Given the description of an element on the screen output the (x, y) to click on. 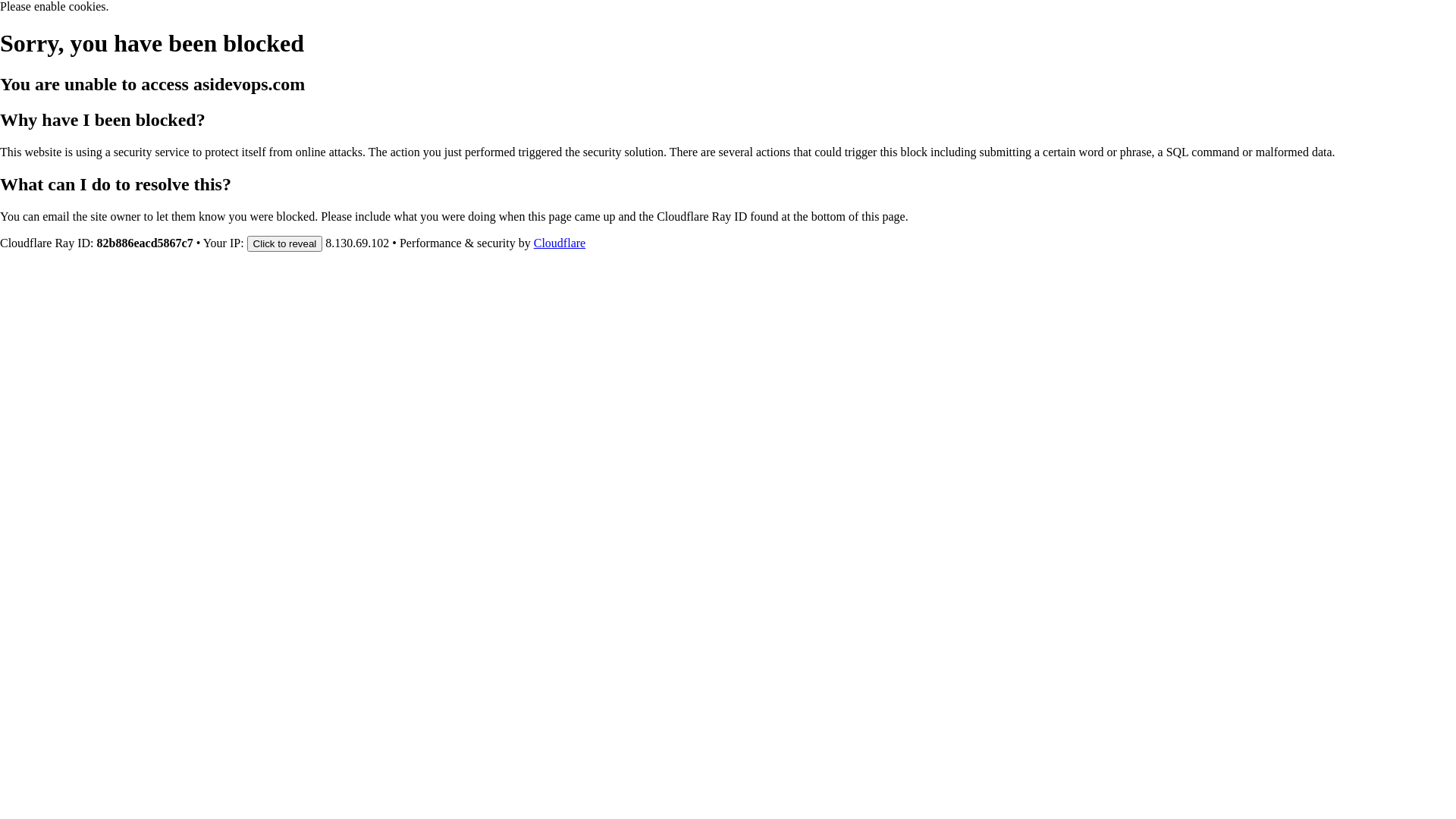
Cloudflare Element type: text (559, 242)
Click to reveal Element type: text (285, 243)
